Given the description of an element on the screen output the (x, y) to click on. 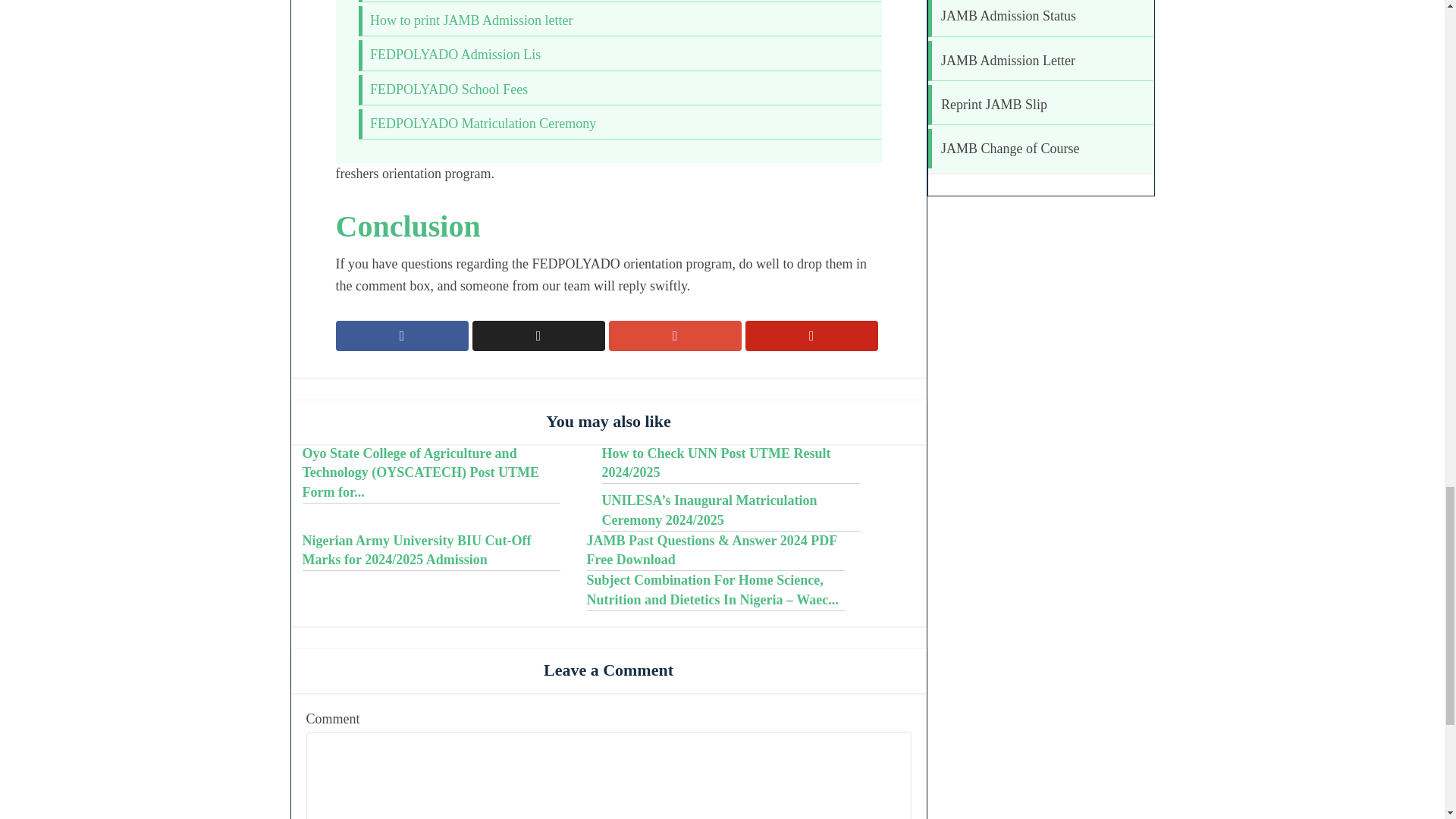
FEDPOLYADO Matriculation Ceremony (482, 123)
FEDPOLYADO School Fees (448, 89)
How to print JAMB Admission letter (471, 20)
FEDPOLYADO Admission Lis (454, 54)
